Given the description of an element on the screen output the (x, y) to click on. 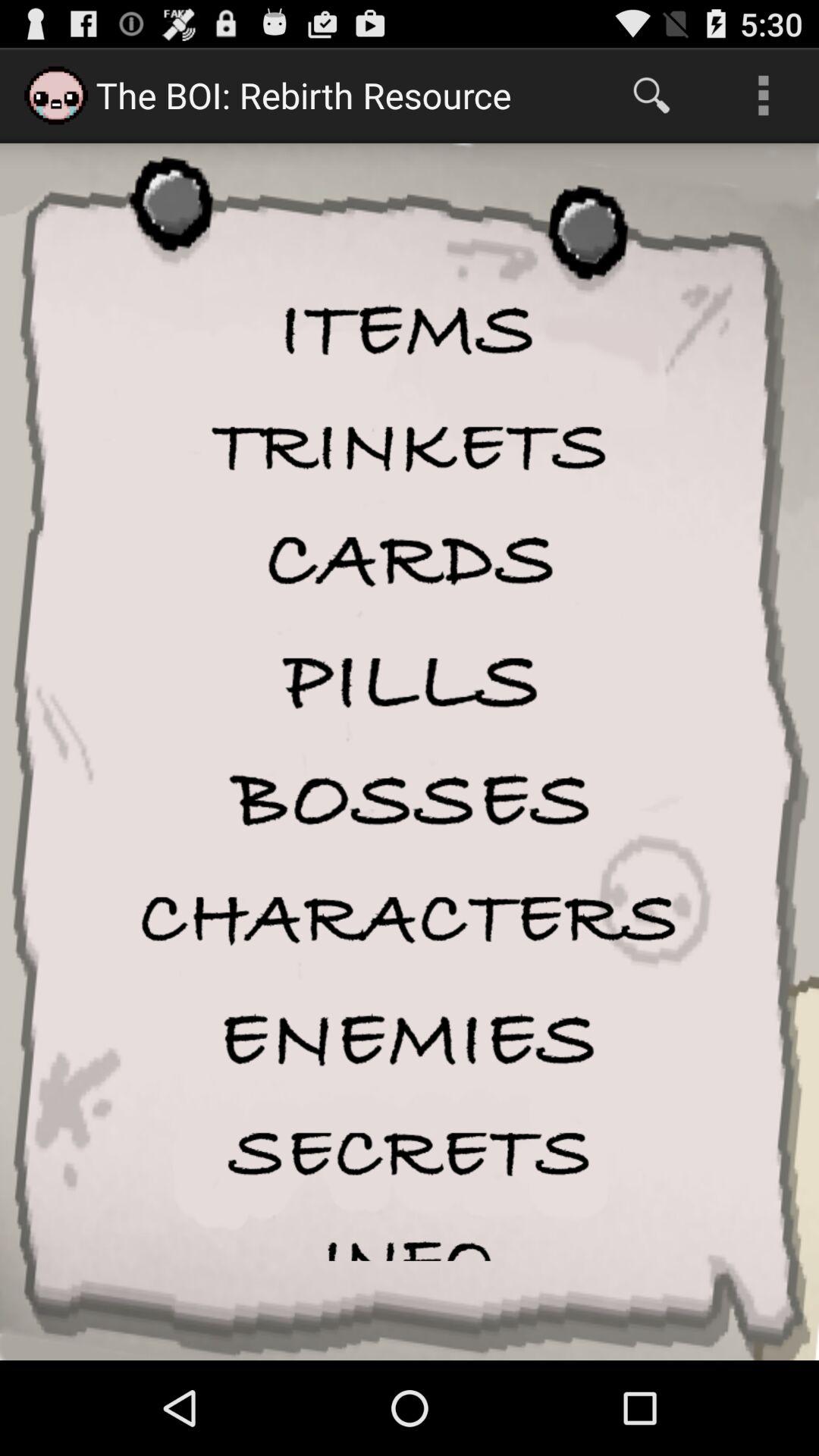
select the item (409, 447)
